Given the description of an element on the screen output the (x, y) to click on. 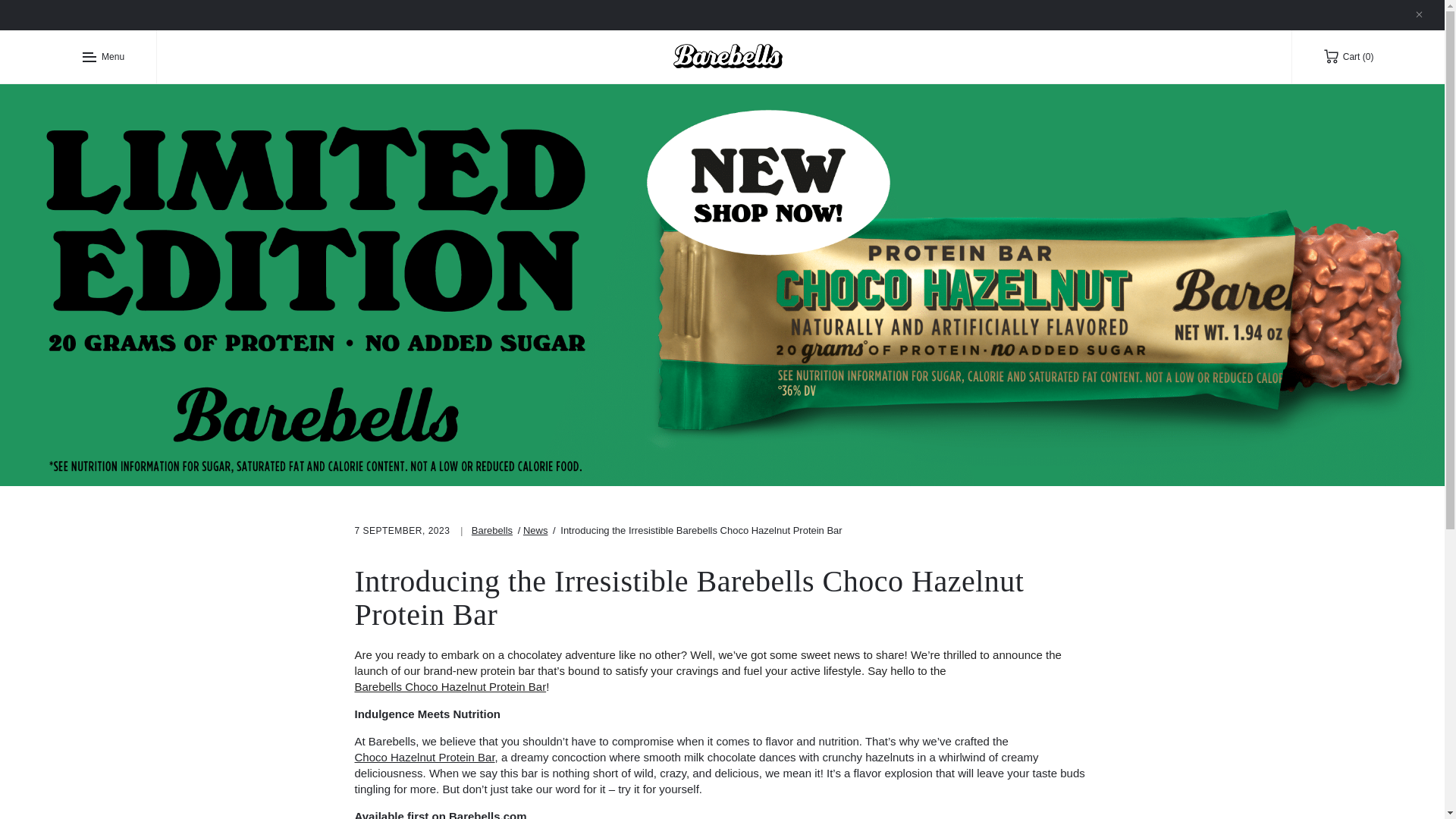
Barebells (491, 530)
Menu (117, 56)
News (535, 530)
Choco Hazelnut Protein Bar (425, 757)
Barebells Choco Hazelnut Protein Bar (451, 686)
